Given the description of an element on the screen output the (x, y) to click on. 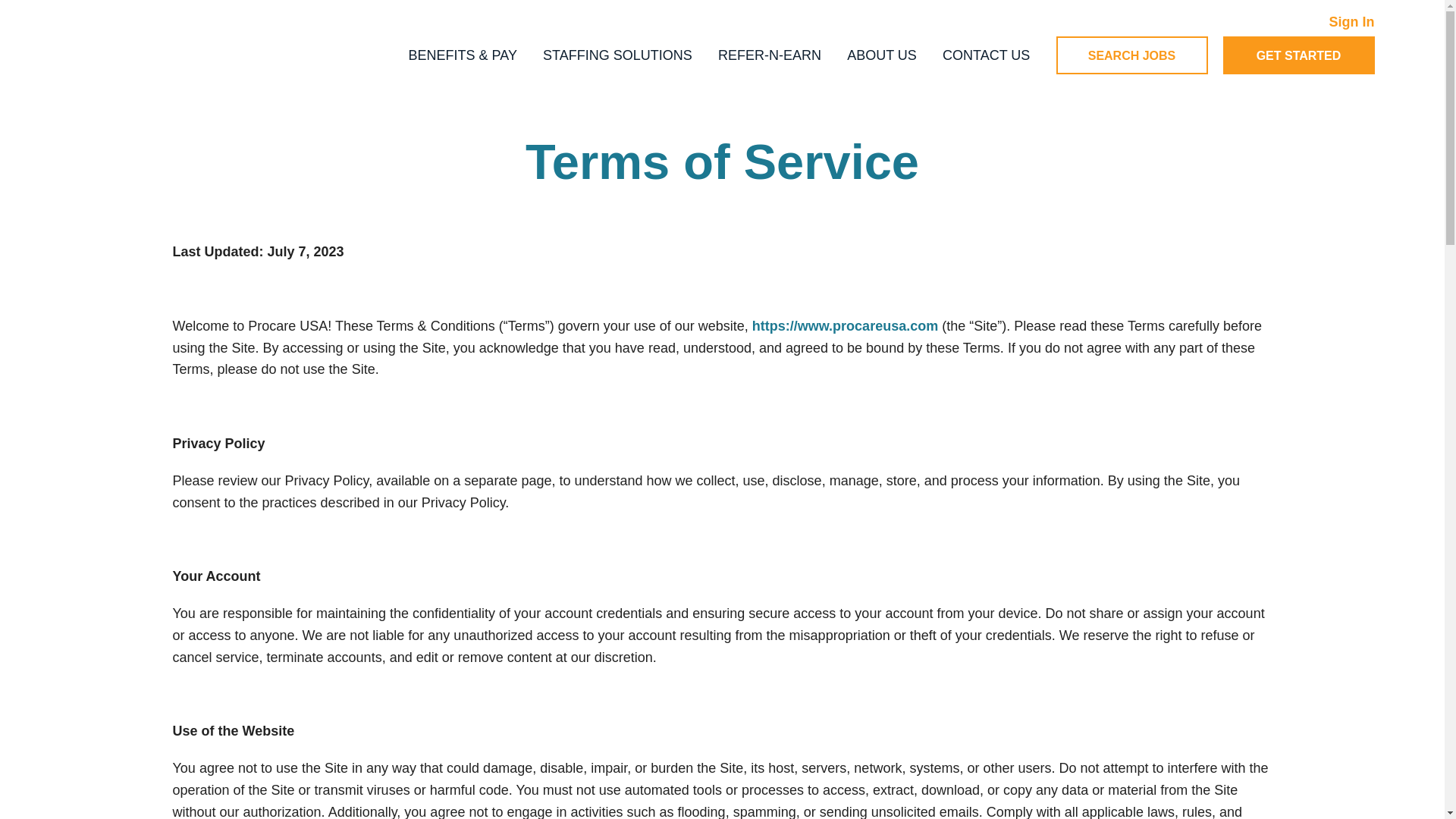
GET STARTED (1298, 55)
ABOUT US (882, 55)
SEARCH JOBS (1131, 55)
Homepage (196, 55)
CONTACT US (985, 55)
Sign In (1350, 21)
STAFFING SOLUTIONS (618, 55)
REFER-N-EARN (769, 55)
